Given the description of an element on the screen output the (x, y) to click on. 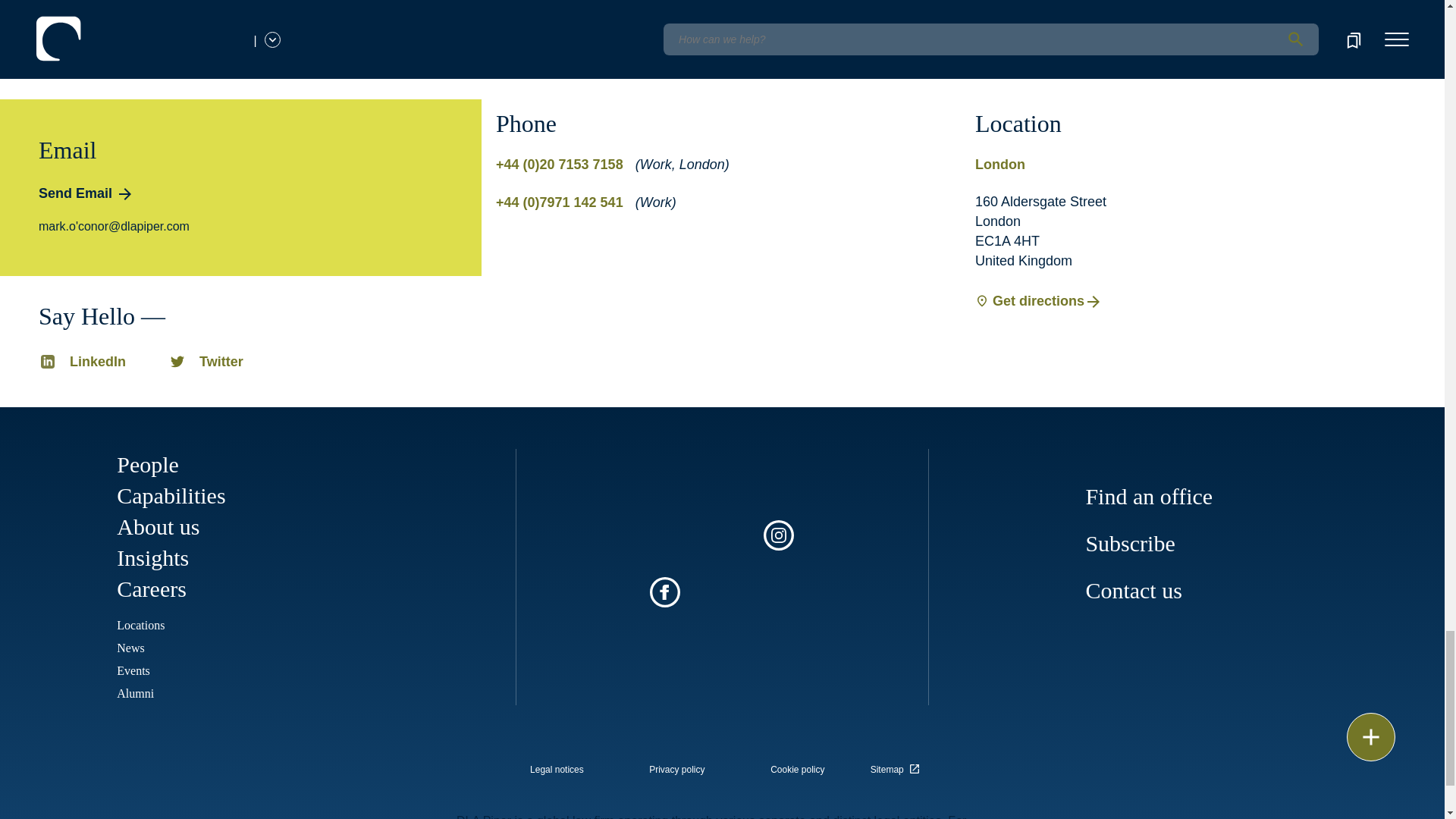
internal (557, 769)
internal (676, 769)
external (897, 765)
internal (798, 769)
